Given the description of an element on the screen output the (x, y) to click on. 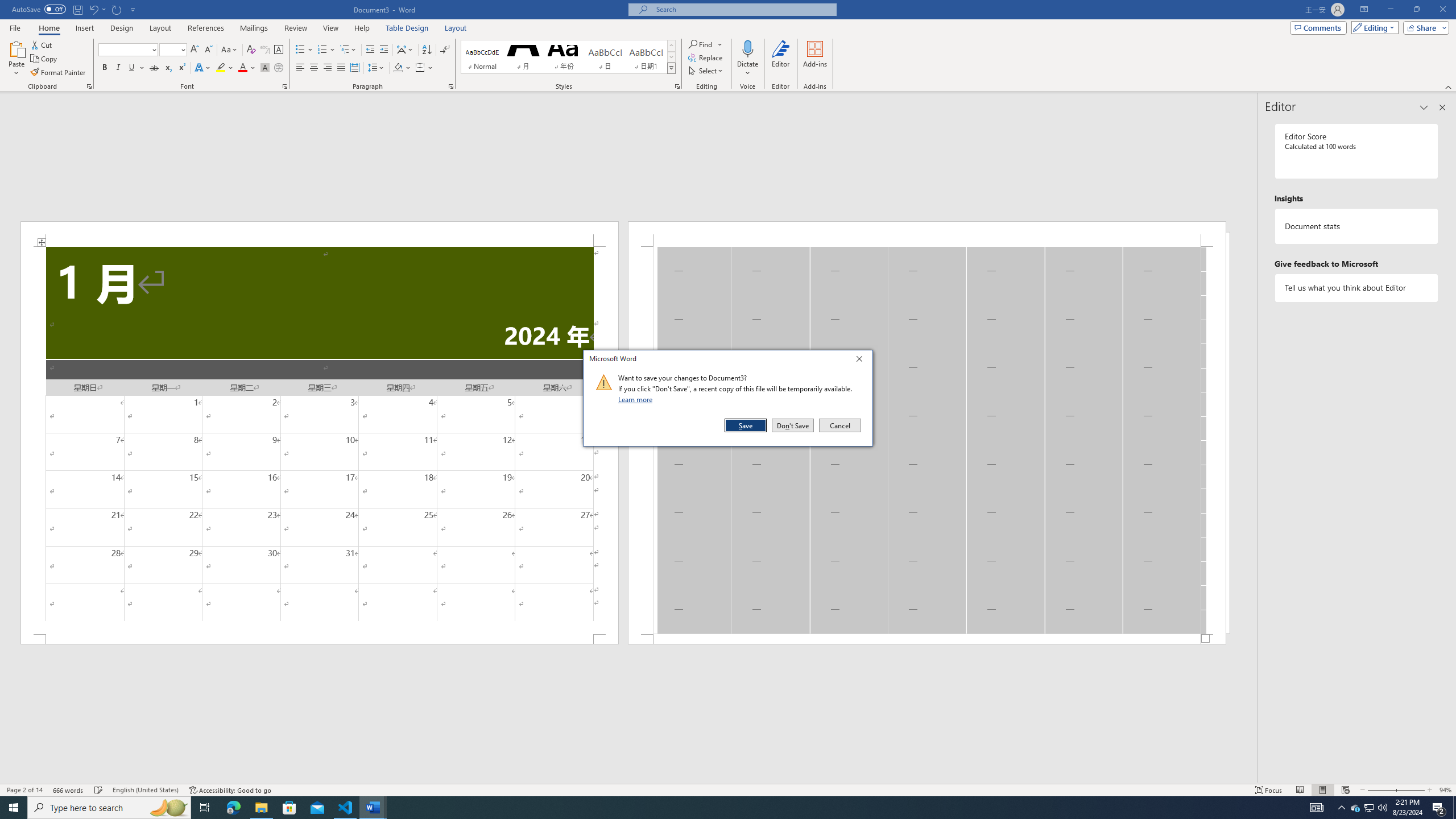
Phonetic Guide... (264, 49)
Dictate (747, 58)
Review (295, 28)
Quick Access Toolbar (74, 9)
Numbering (326, 49)
Task Pane Options (1423, 107)
Subscript (167, 67)
Table Design (407, 28)
Replace... (705, 56)
Distributed (354, 67)
Ribbon Display Options (1364, 9)
Save (1355, 807)
